Given the description of an element on the screen output the (x, y) to click on. 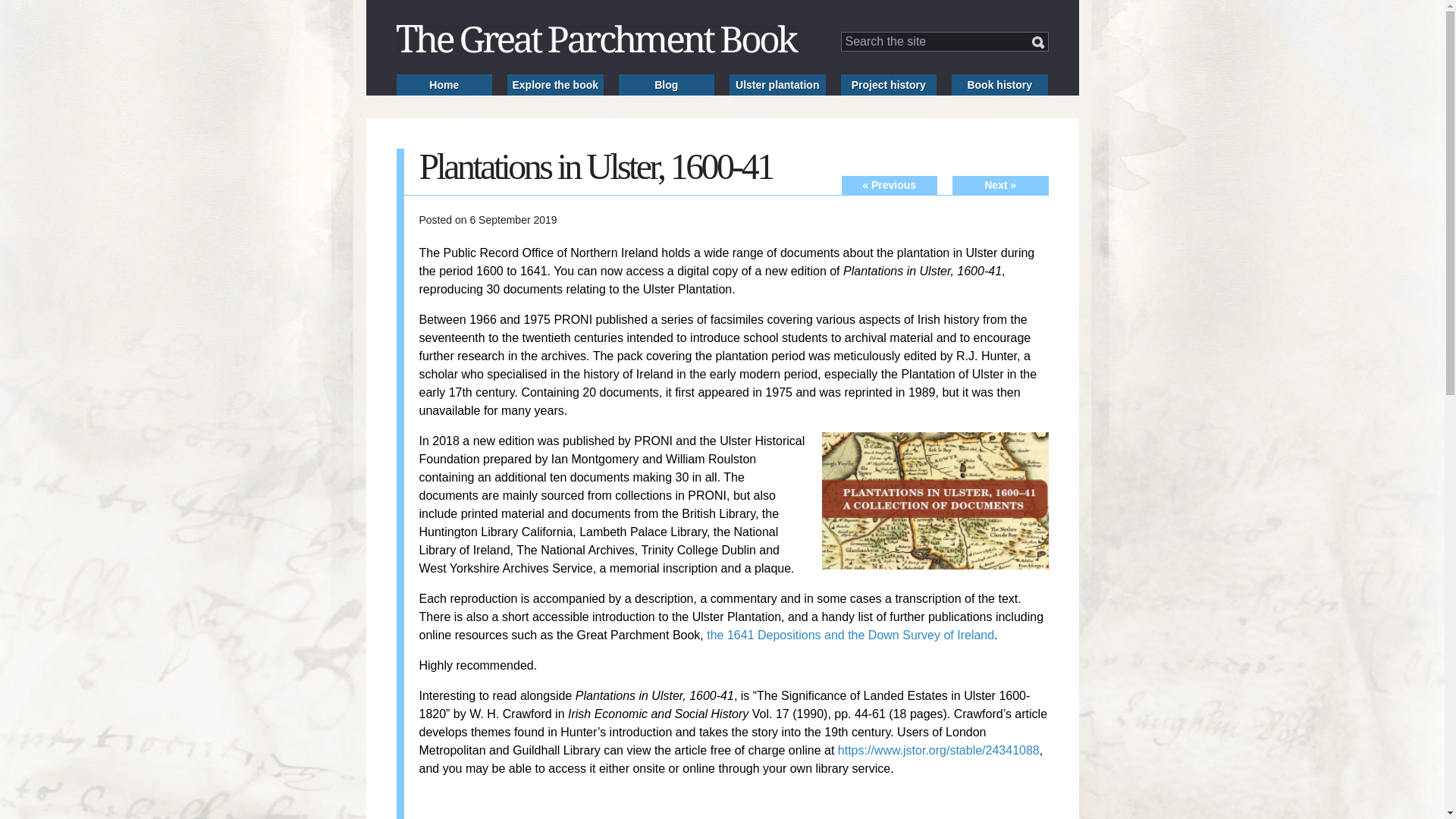
Ulster plantation (777, 84)
The Great Parchment Book (596, 39)
Go (1036, 41)
the 1641 Depositions and the Down Survey of Ireland (850, 634)
Blog (666, 84)
Search the site (944, 41)
Project history (888, 84)
Go (1036, 41)
Book history (1000, 84)
Home (444, 84)
Explore the book (555, 84)
